Given the description of an element on the screen output the (x, y) to click on. 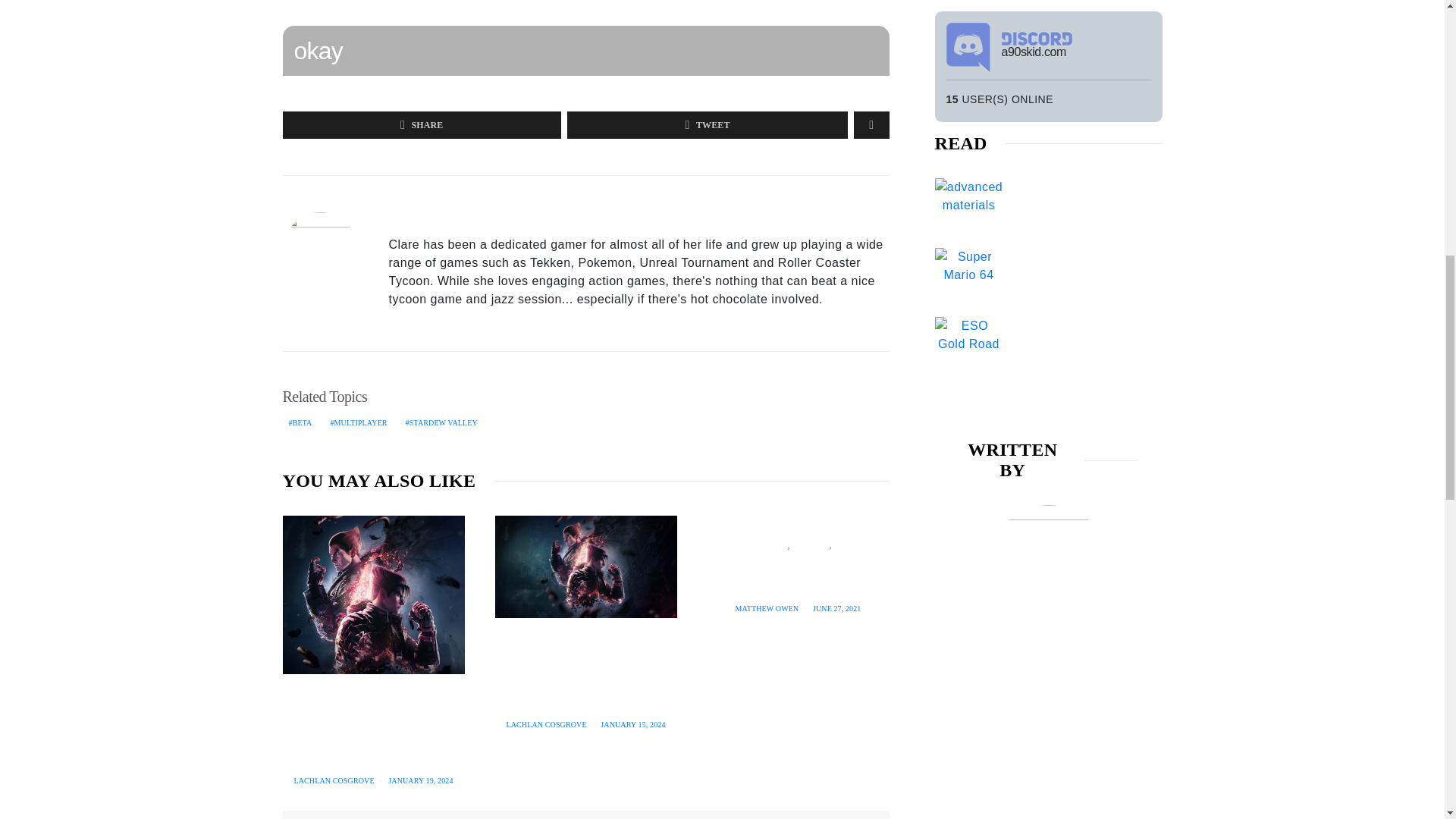
OPINION (813, 545)
View all posts by Matthew Owen (766, 608)
JANUARY 19, 2024 (420, 780)
Clare Lunawolf (435, 220)
BETA (299, 422)
SHARE (421, 124)
TWEET (707, 124)
View all posts by Lachlan Cosgrove (334, 780)
JANUARY 15, 2024 (632, 724)
MULTIPLAYER (358, 422)
